Given the description of an element on the screen output the (x, y) to click on. 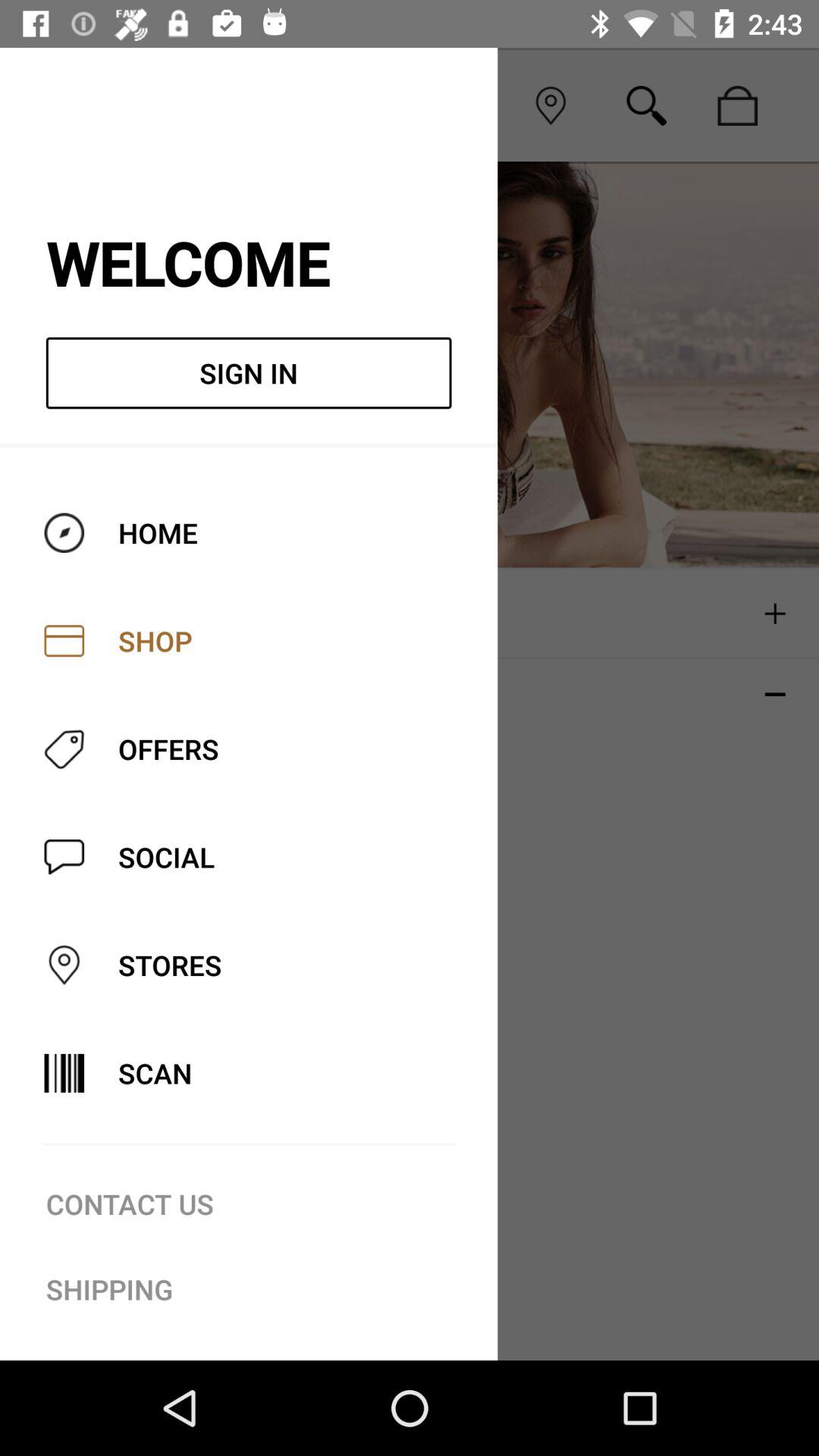
click search icon (646, 106)
select offers icon (64, 748)
click on the plus icon  which is above the  (775, 614)
